Given the description of an element on the screen output the (x, y) to click on. 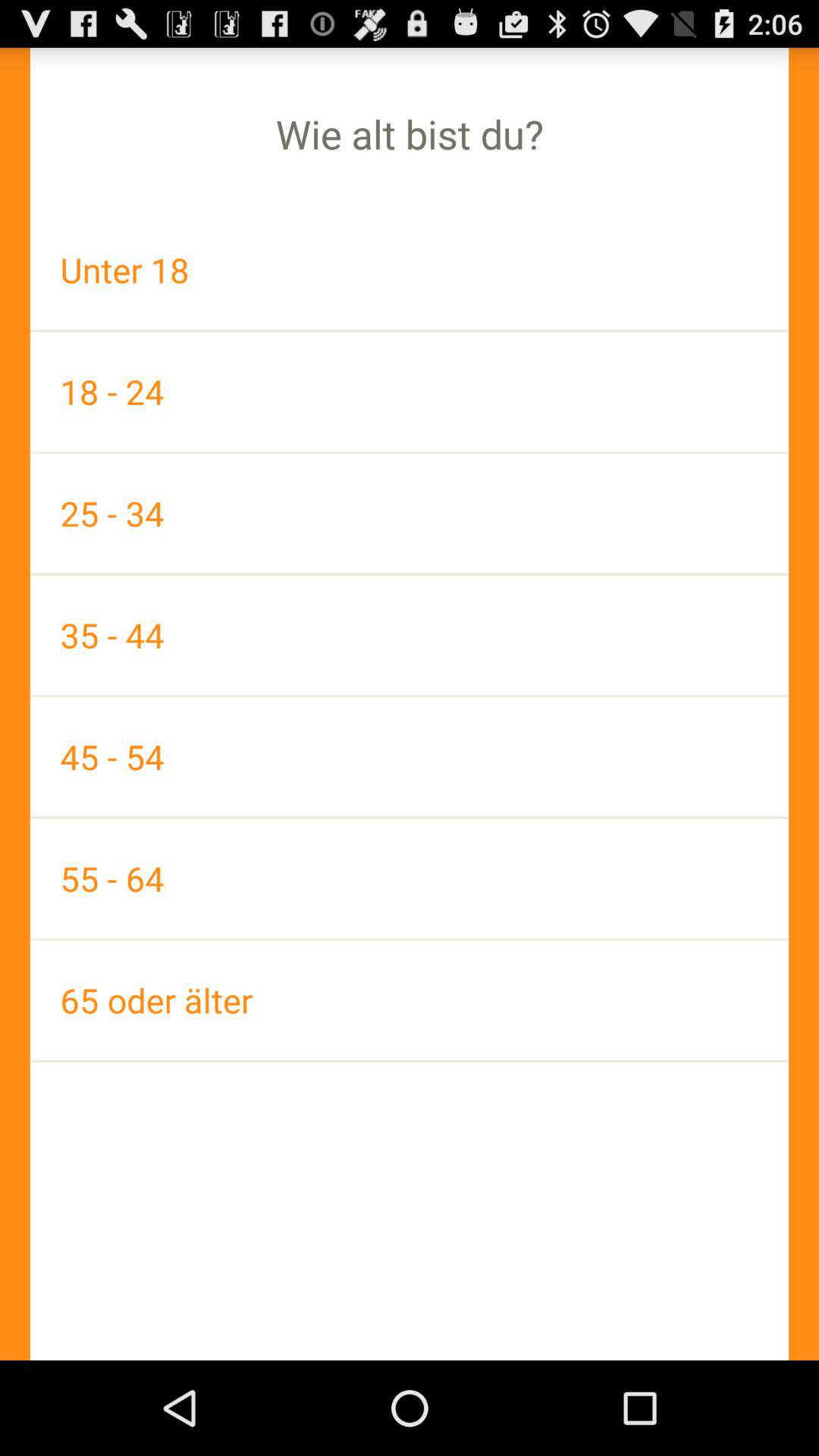
turn off icon below the 35 - 44 icon (409, 756)
